Given the description of an element on the screen output the (x, y) to click on. 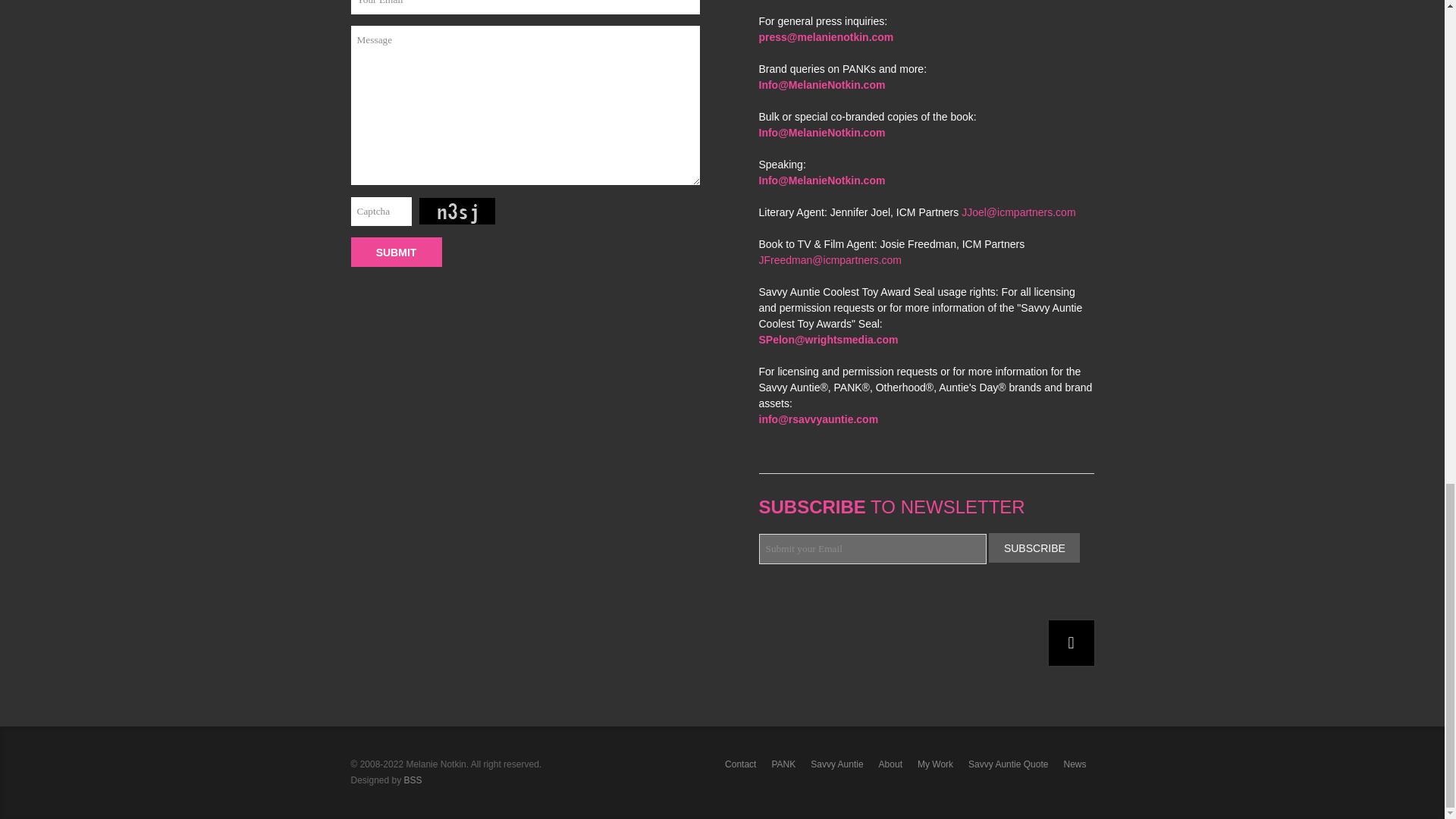
Youtube (854, 598)
instagram (898, 598)
linkedIn (877, 598)
instagram (898, 598)
SUBMIT (395, 251)
Pinterest (834, 598)
Feed (921, 598)
Facebook (789, 598)
Binary Star Solutions (925, 512)
